Given the description of an element on the screen output the (x, y) to click on. 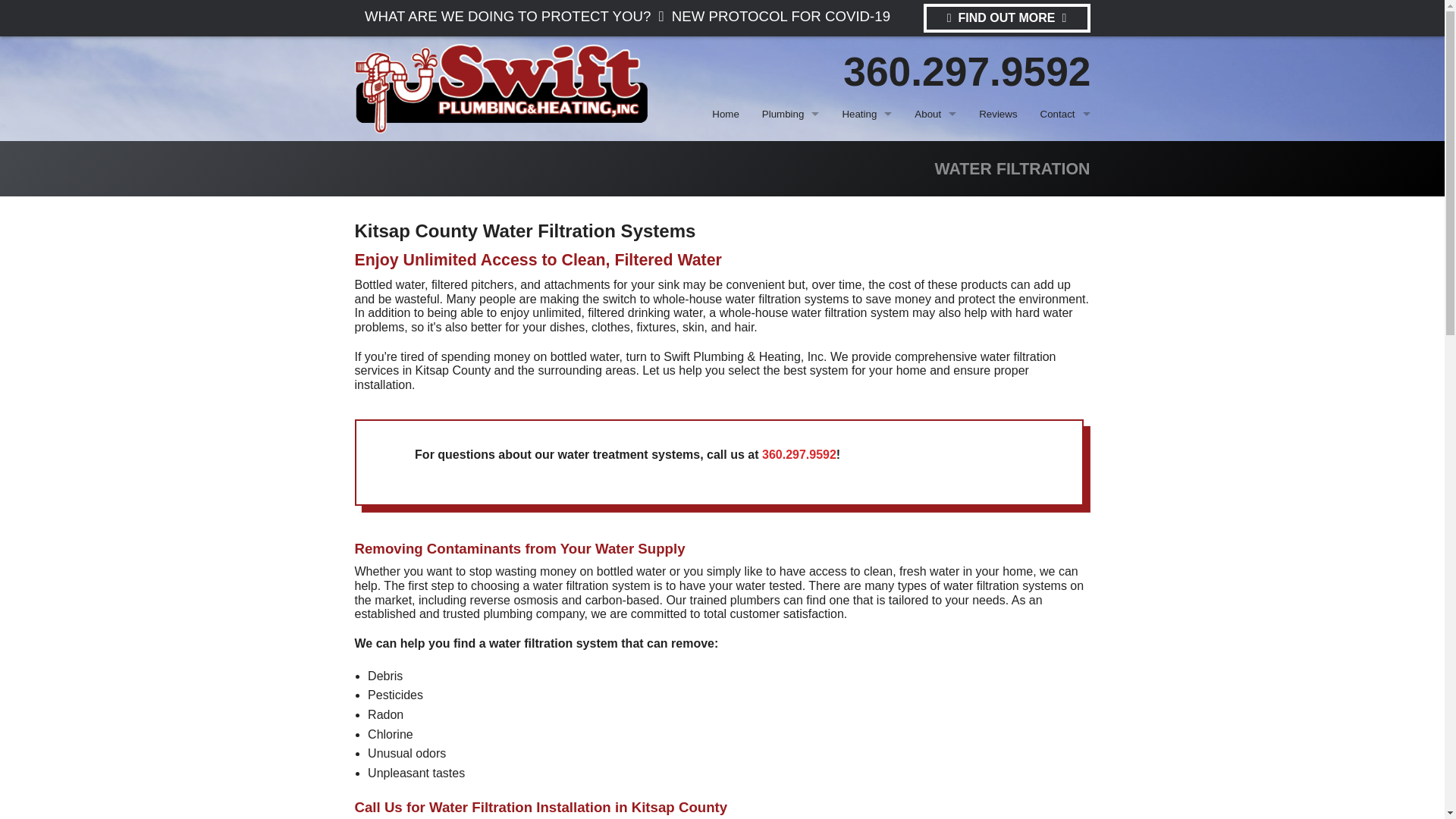
Plumbing Service (790, 148)
Commercial Heating (866, 182)
Flexible Payment Options (935, 251)
Contact (1065, 114)
360.297.9592 (966, 71)
Hydronic Heating (866, 148)
About (935, 114)
Kitchen Plumbing (790, 319)
Tankless Water Heater Repair (711, 286)
Our Community (935, 319)
Who We Are (935, 285)
Home (725, 114)
Reviews (997, 114)
Water Heaters (790, 182)
  FIND OUT MORE   (1006, 18)
